Given the description of an element on the screen output the (x, y) to click on. 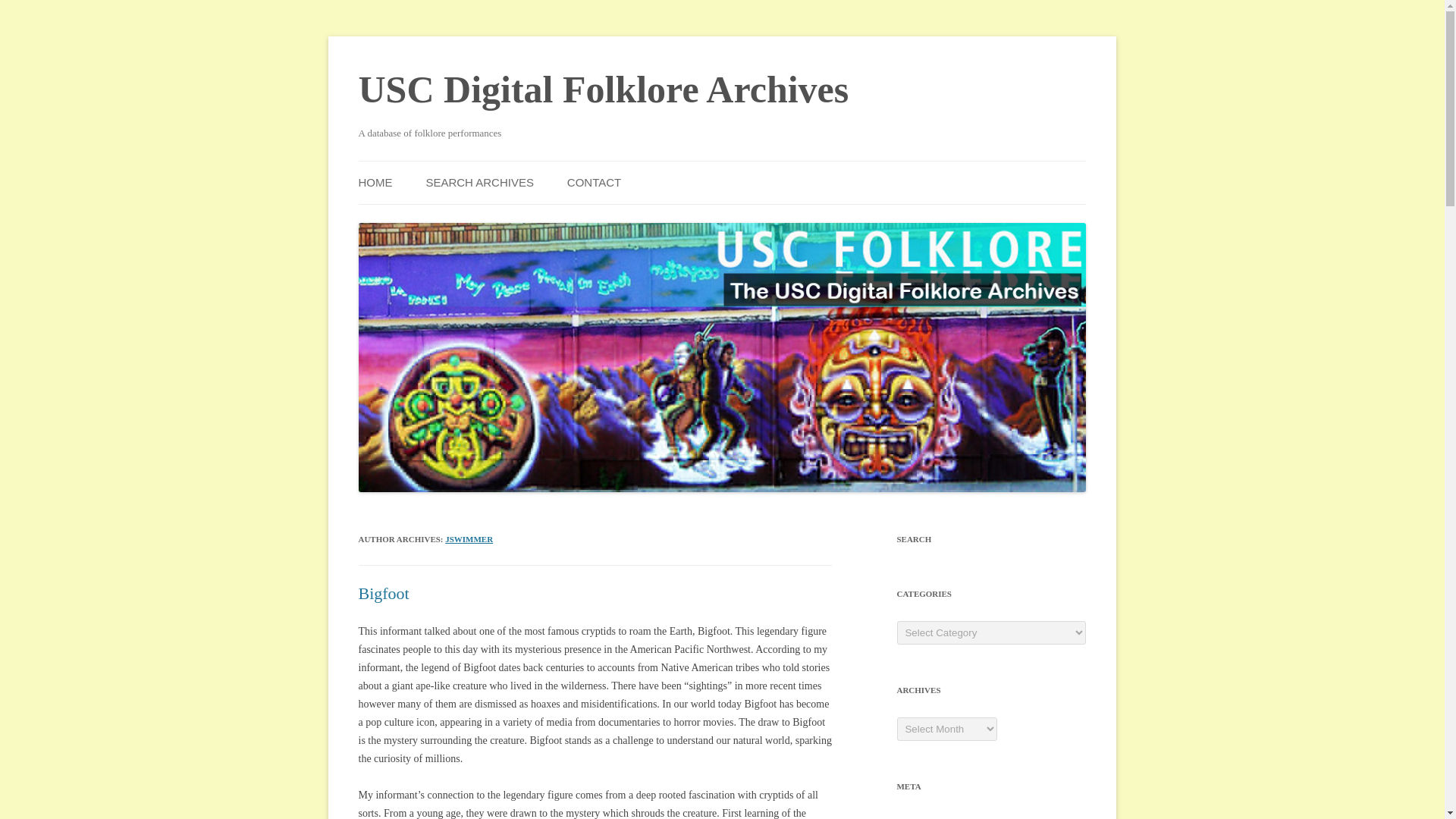
USC Digital Folklore Archives (603, 89)
JSWIMMER (469, 538)
jswimmer (469, 538)
USC Digital Folklore Archives (603, 89)
SEARCH ARCHIVES (479, 182)
CONTACT (594, 182)
Bigfoot (383, 592)
